Given the description of an element on the screen output the (x, y) to click on. 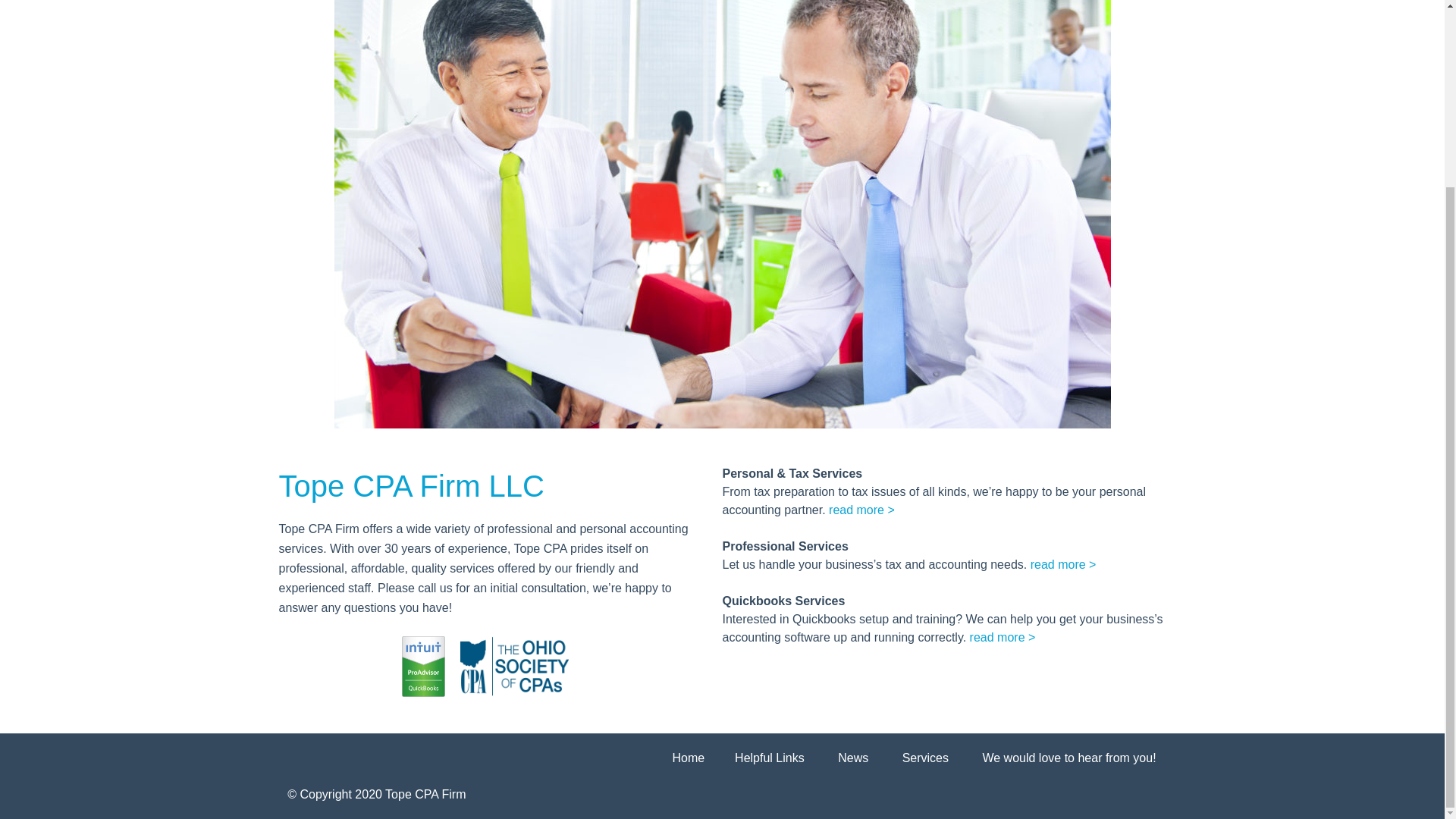
Home (687, 757)
Services (925, 757)
Helpful Links (770, 757)
We would love to hear from you! (1068, 757)
News (852, 757)
